Given the description of an element on the screen output the (x, y) to click on. 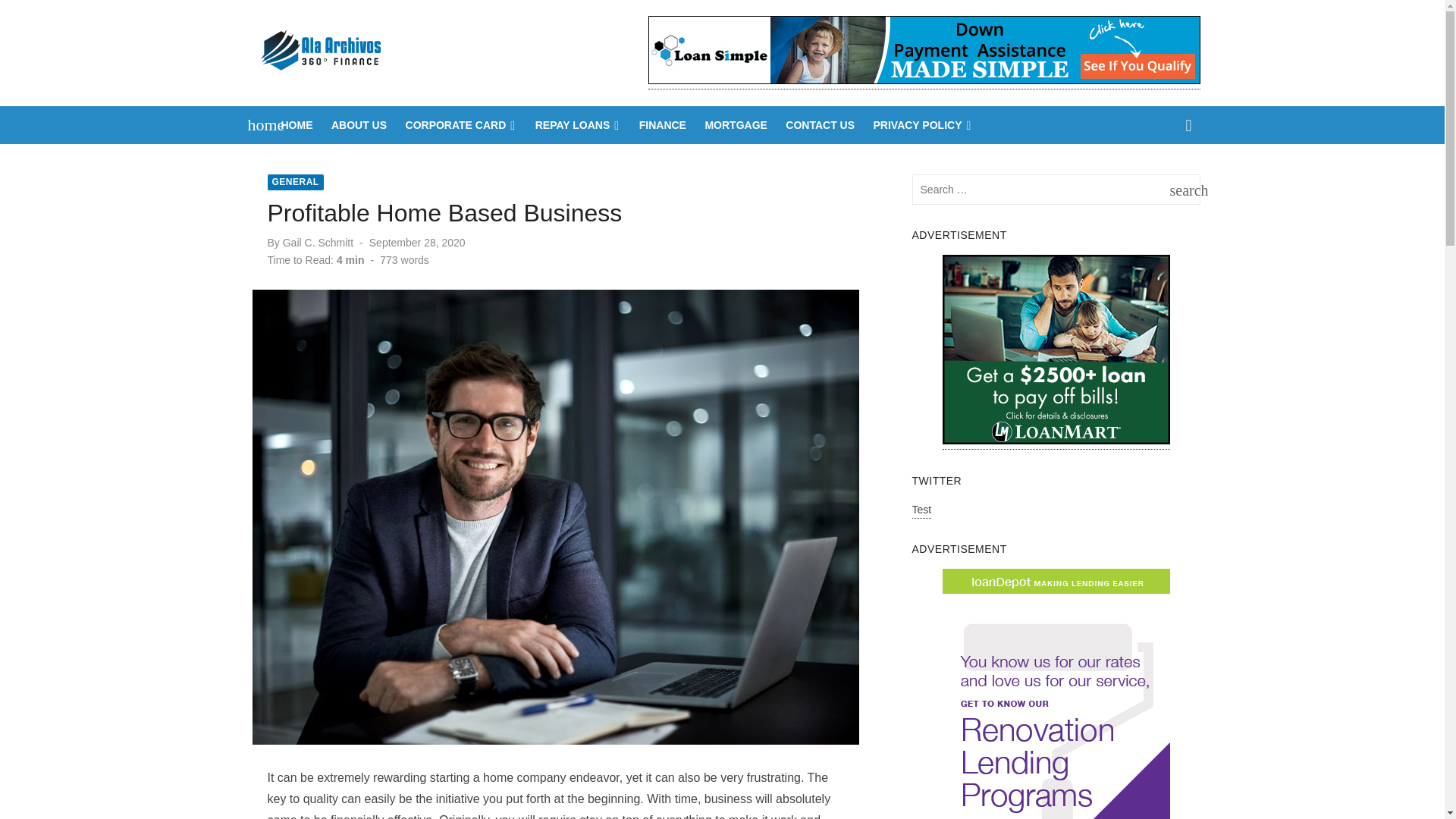
September 28, 2020 (417, 242)
HOME (296, 125)
home (258, 124)
CORPORATE CARD (461, 125)
ABOUT US (359, 125)
Gail C. Schmitt (317, 242)
GENERAL (294, 182)
REPAY LOANS (578, 125)
FINANCE (662, 125)
CONTACT US (820, 125)
MORTGAGE (735, 125)
PRIVACY POLICY (922, 125)
